Given the description of an element on the screen output the (x, y) to click on. 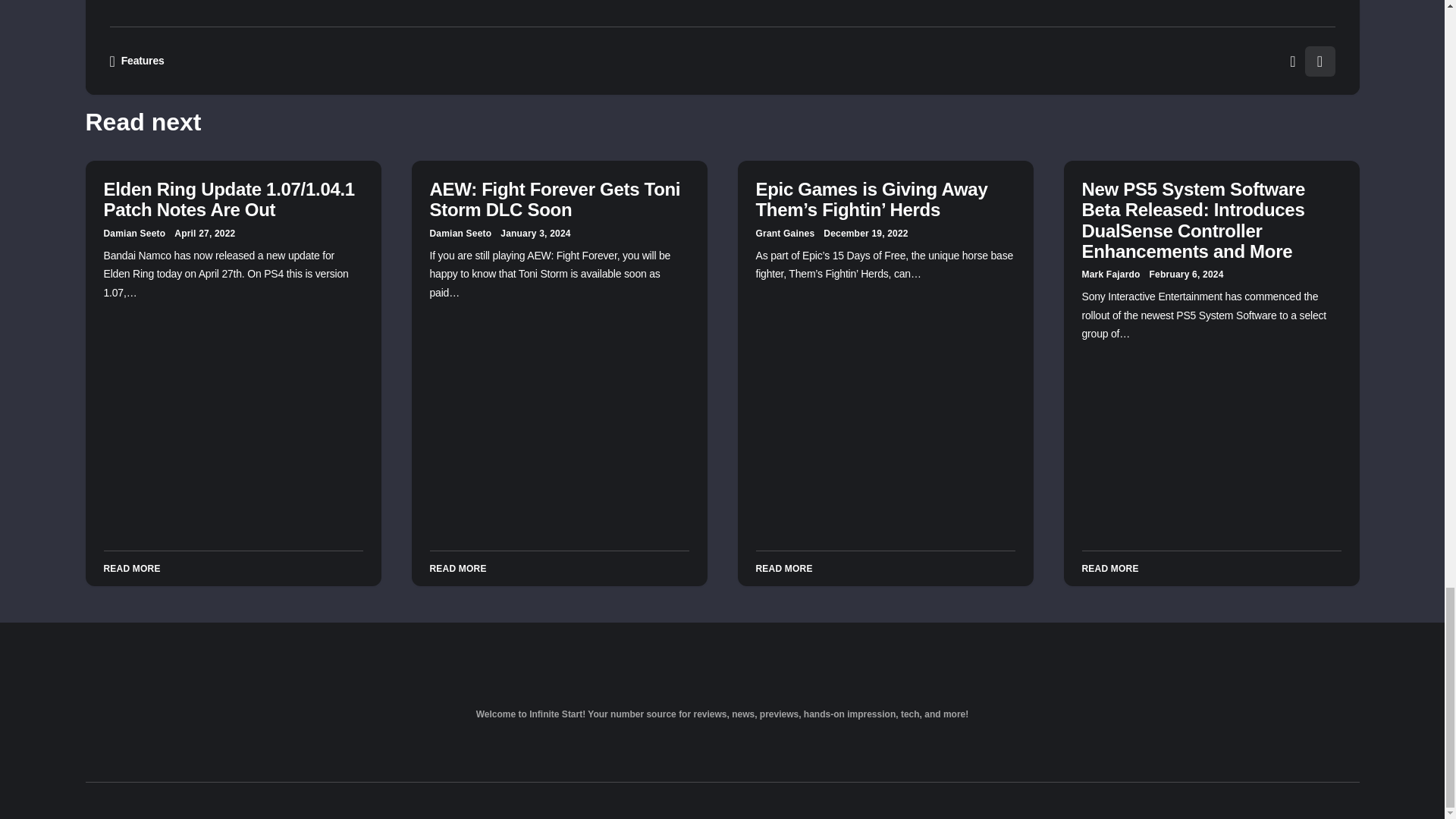
View all posts by Damian Seeto (134, 233)
Post Comment (868, 9)
View all posts by Mark Fajardo (1110, 274)
View all posts by Damian Seeto (460, 233)
View all posts by Grant Gaines (784, 233)
